Given the description of an element on the screen output the (x, y) to click on. 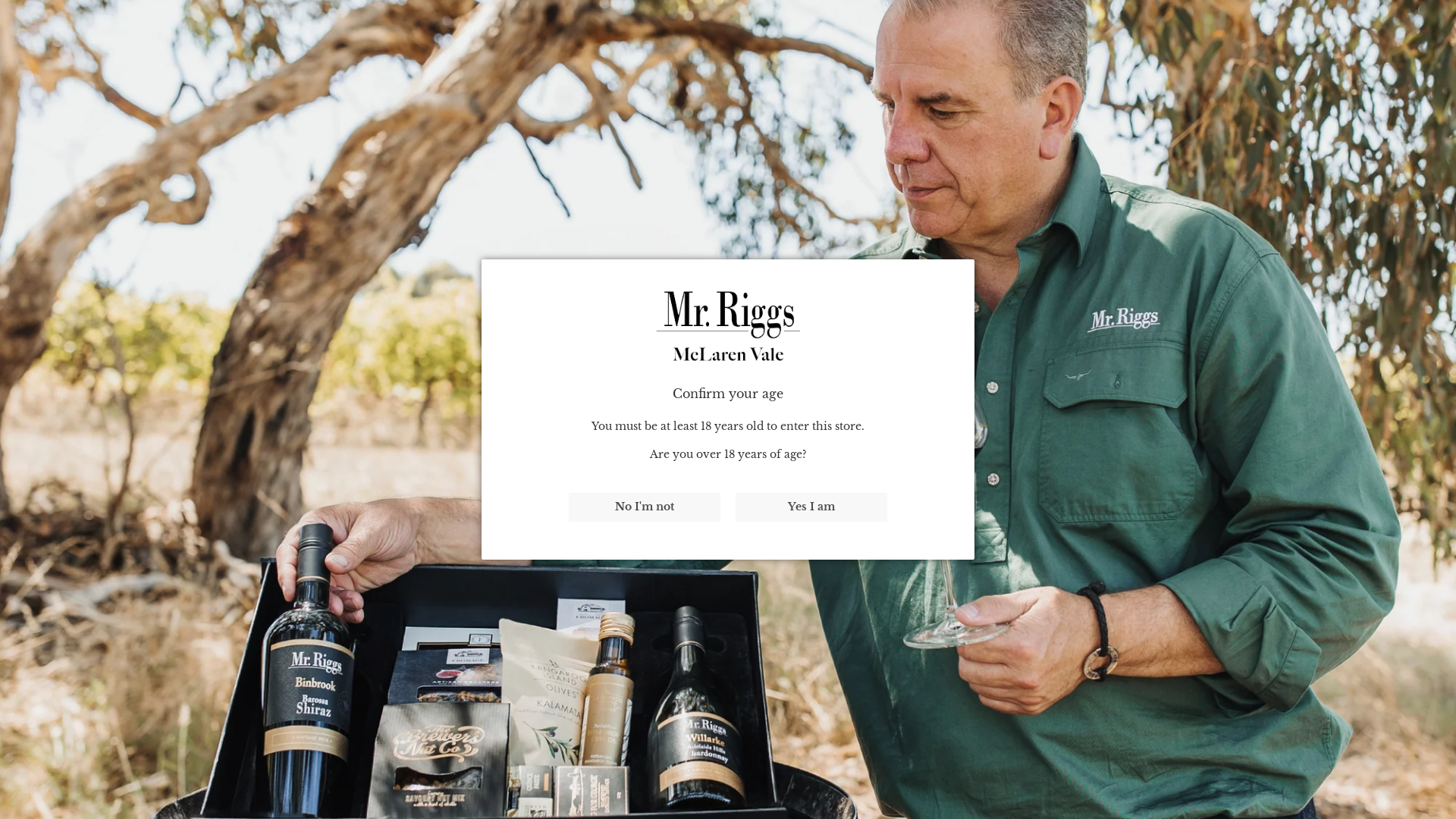
Free shipping on orders over $200 Element type: text (727, 15)
Visit Us Element type: text (280, 76)
Wine Store Element type: text (175, 76)
Events Element type: text (360, 76)
Search Element type: text (1270, 76)
Contact Element type: text (431, 76)
Cart Element type: text (1410, 76)
Yes I am Element type: text (811, 506)
Favs Element type: text (1344, 76)
Our Story Element type: text (63, 76)
No I'm not Element type: text (644, 506)
